Given the description of an element on the screen output the (x, y) to click on. 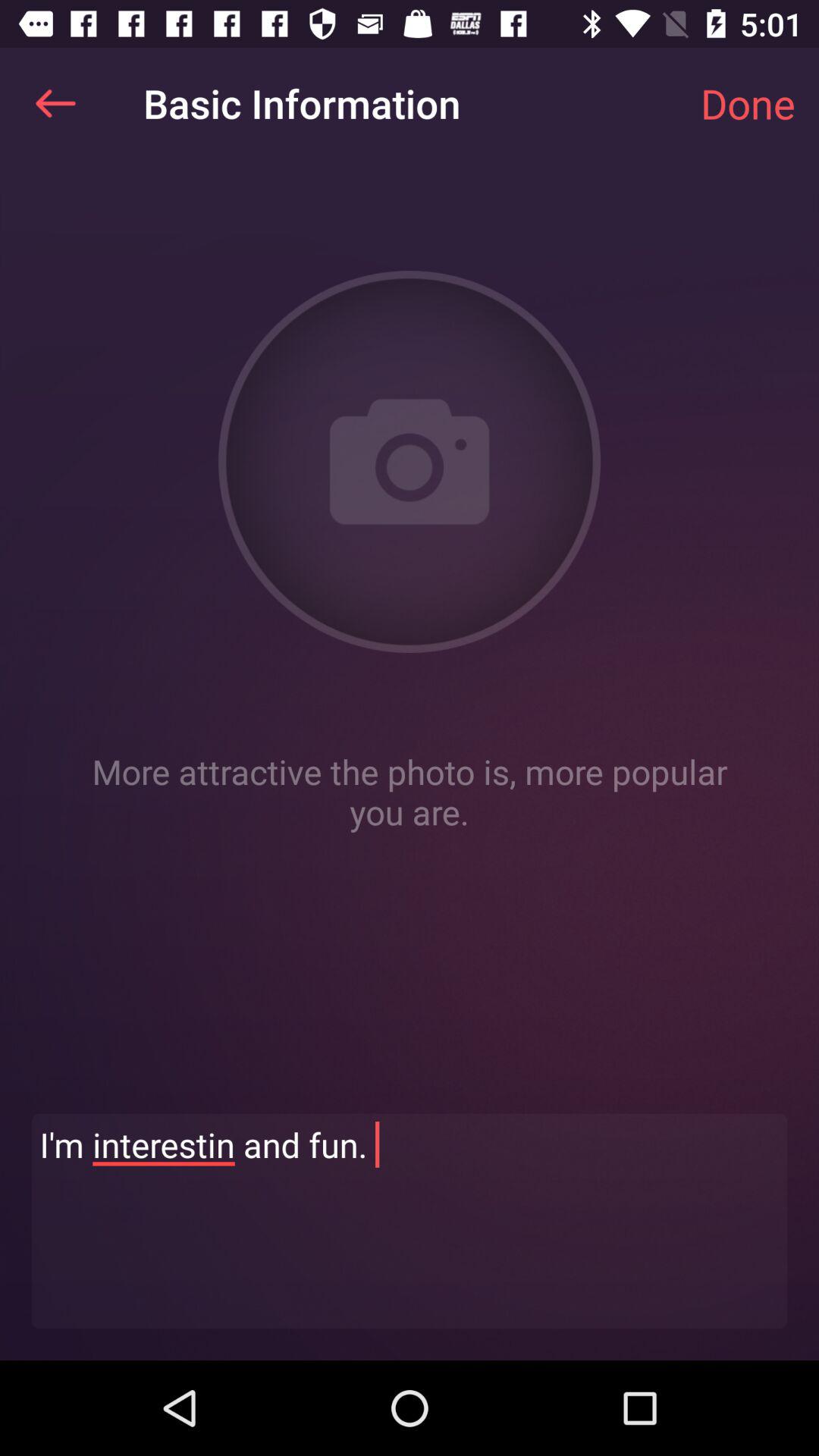
turn off icon above the more attractive the icon (747, 103)
